Given the description of an element on the screen output the (x, y) to click on. 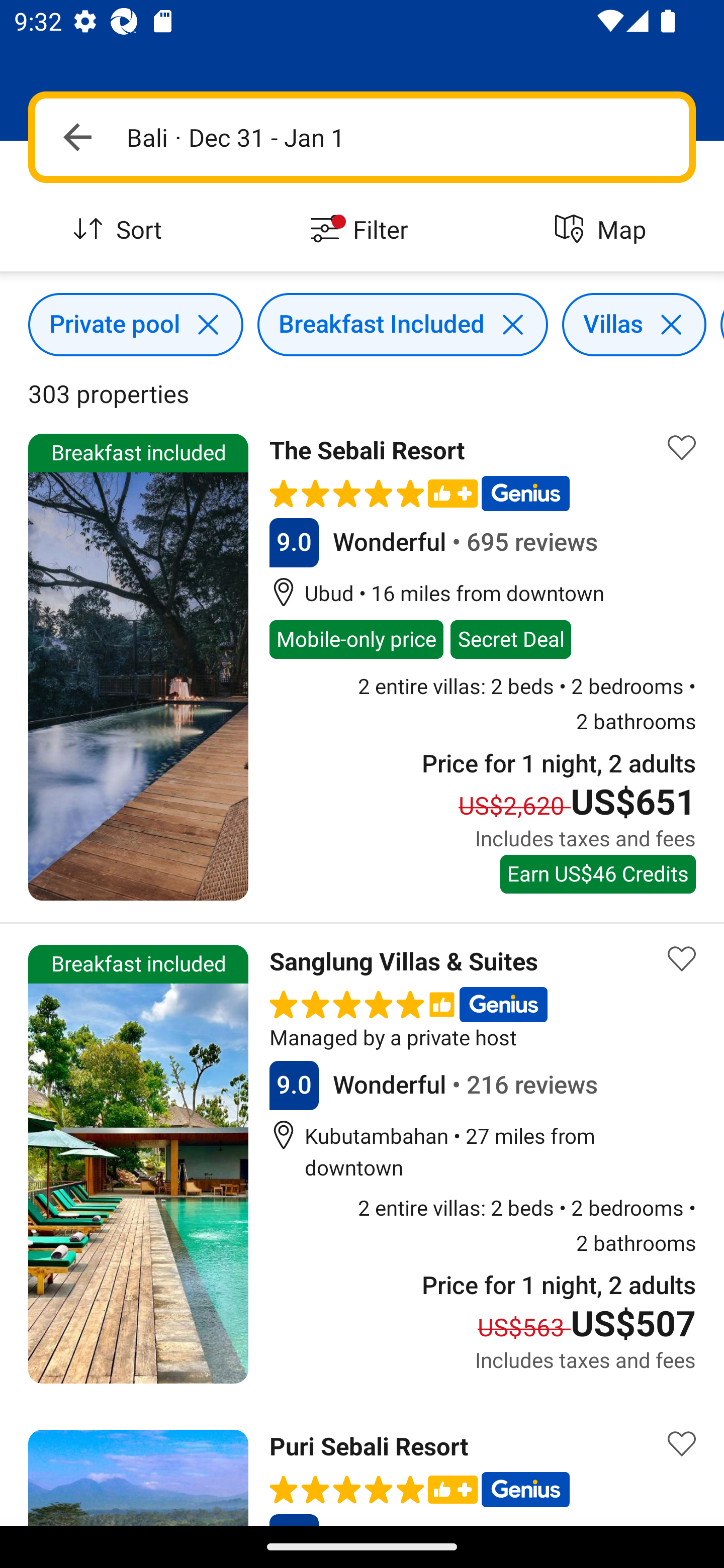
Navigate up Bali · Dec 31 - Jan 1 (362, 136)
Navigate up (77, 136)
Sort (120, 230)
Filter (361, 230)
Map (603, 230)
Save property to list (681, 447)
Save property to list (681, 958)
Save property to list (681, 1443)
